Given the description of an element on the screen output the (x, y) to click on. 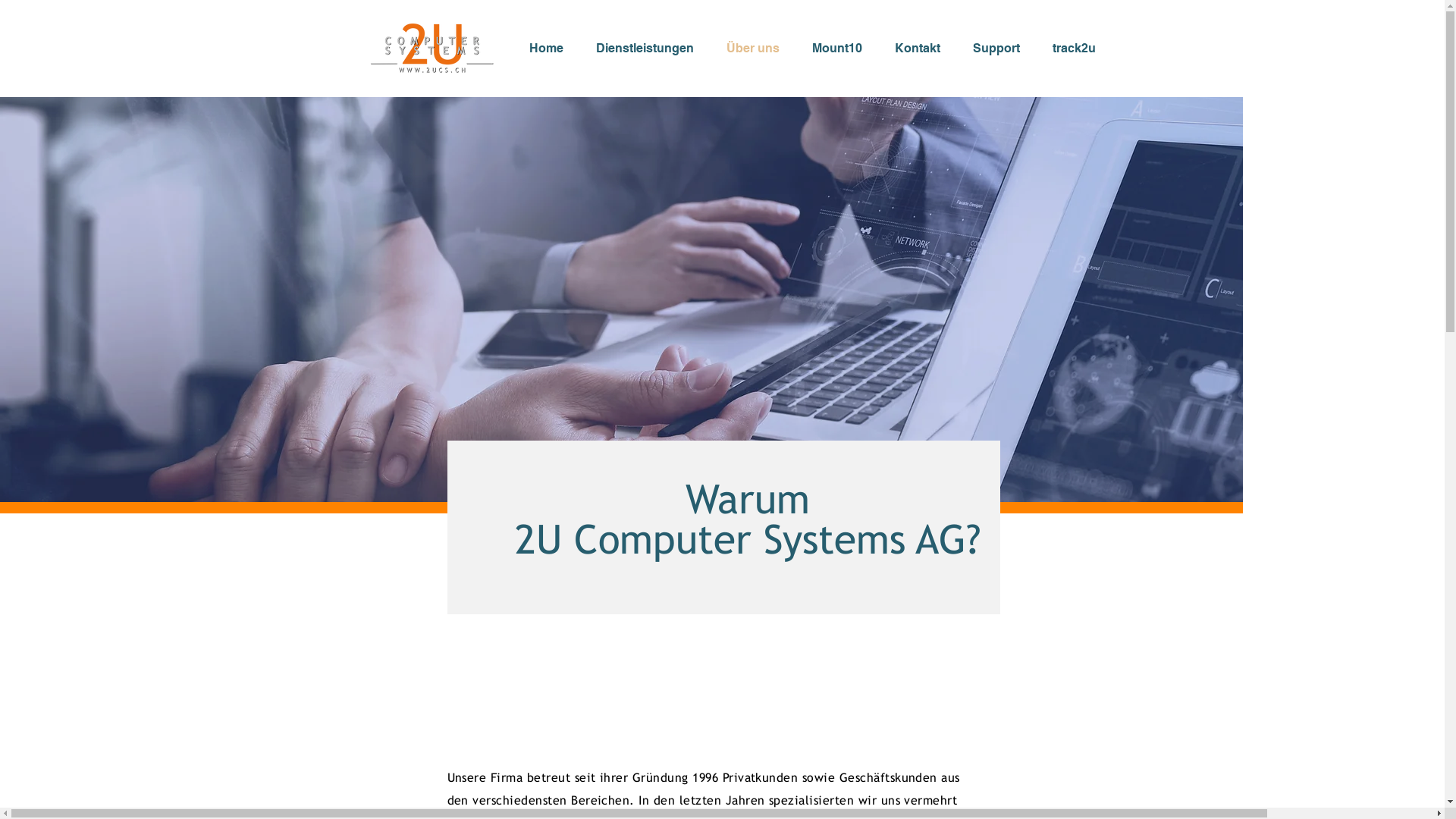
Dienstleistungen Element type: text (648, 48)
Support Element type: text (1001, 48)
Mount10 Element type: text (841, 48)
track2u Element type: text (1078, 48)
Kontakt Element type: text (921, 48)
Home Element type: text (550, 48)
